Given the description of an element on the screen output the (x, y) to click on. 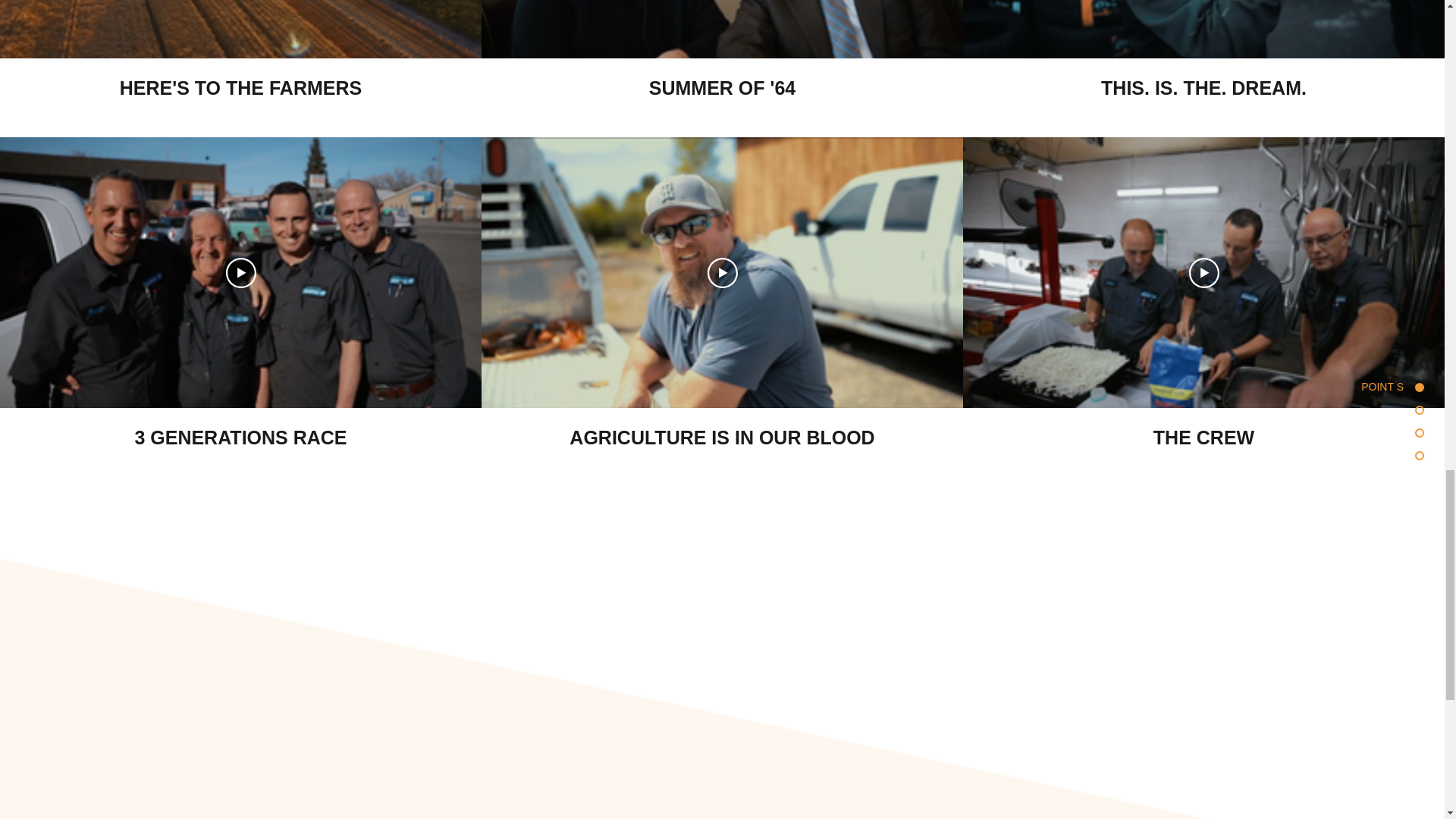
SUMMER OF '64 (721, 87)
HERE'S TO THE FARMERS (240, 78)
AGRICULTURE IS IN OUR BLOOD (721, 436)
3 GENERATIONS RACE (239, 436)
THE CREW (1203, 436)
SUMMER OF '64 (721, 78)
AGRICULTURE IS IN OUR BLOOD (721, 427)
THIS. IS. THE. DREAM. (1203, 87)
3 GENERATIONS RACE (240, 427)
HERE'S TO THE FARMERS (239, 87)
